Given the description of an element on the screen output the (x, y) to click on. 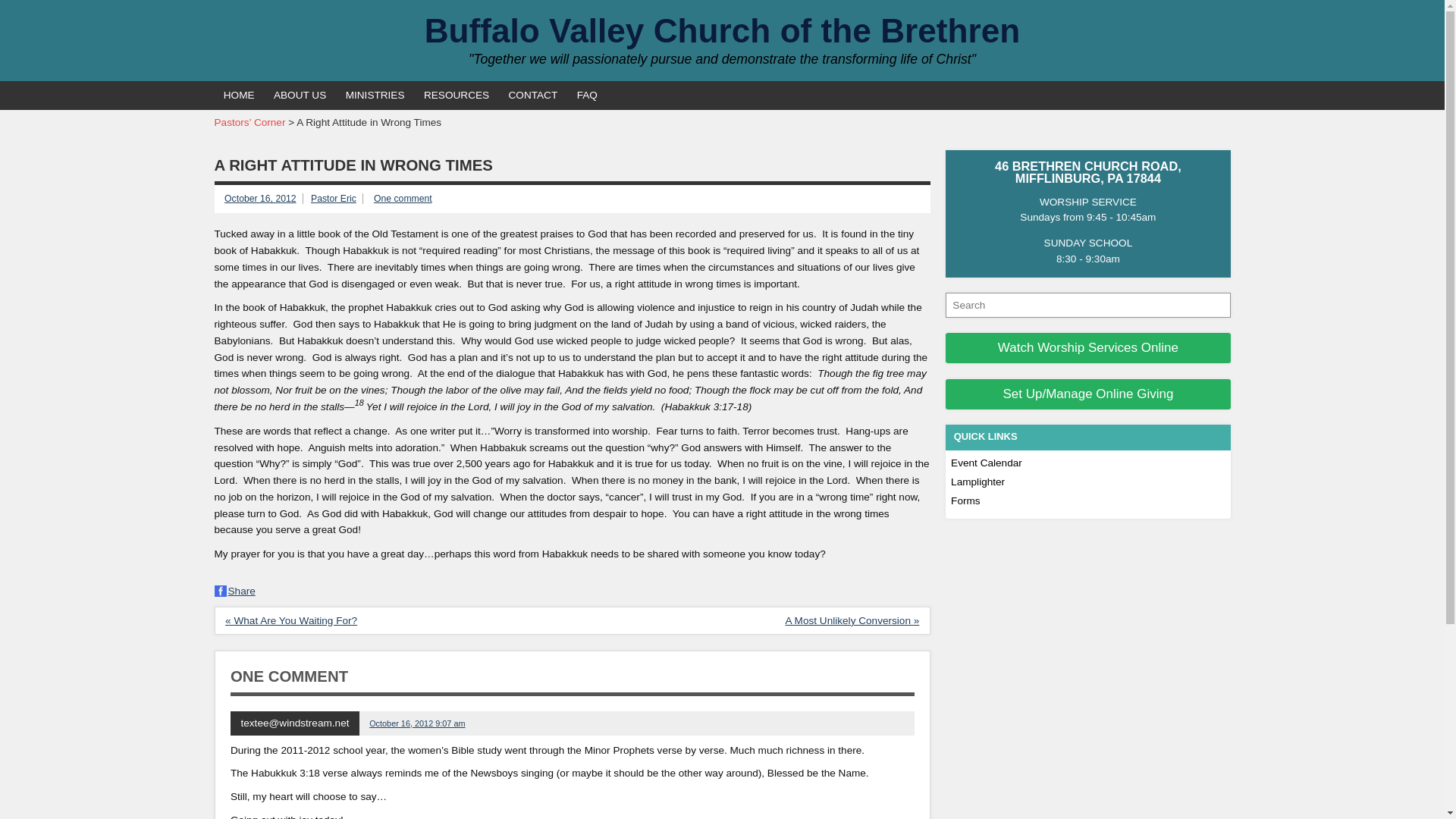
Buffalo Valley Church of the Brethren (722, 30)
ABOUT US (300, 95)
MINISTRIES (374, 95)
CONTACT (532, 95)
One comment (403, 198)
Pastor Eric (333, 198)
HOME (238, 95)
October 16, 2012 9:07 am (416, 723)
Watch Worship Services Online (1087, 347)
RESOURCES (456, 95)
Share (234, 591)
October 16, 2012 (260, 198)
7:47 am (260, 198)
FAQ (587, 95)
